Given the description of an element on the screen output the (x, y) to click on. 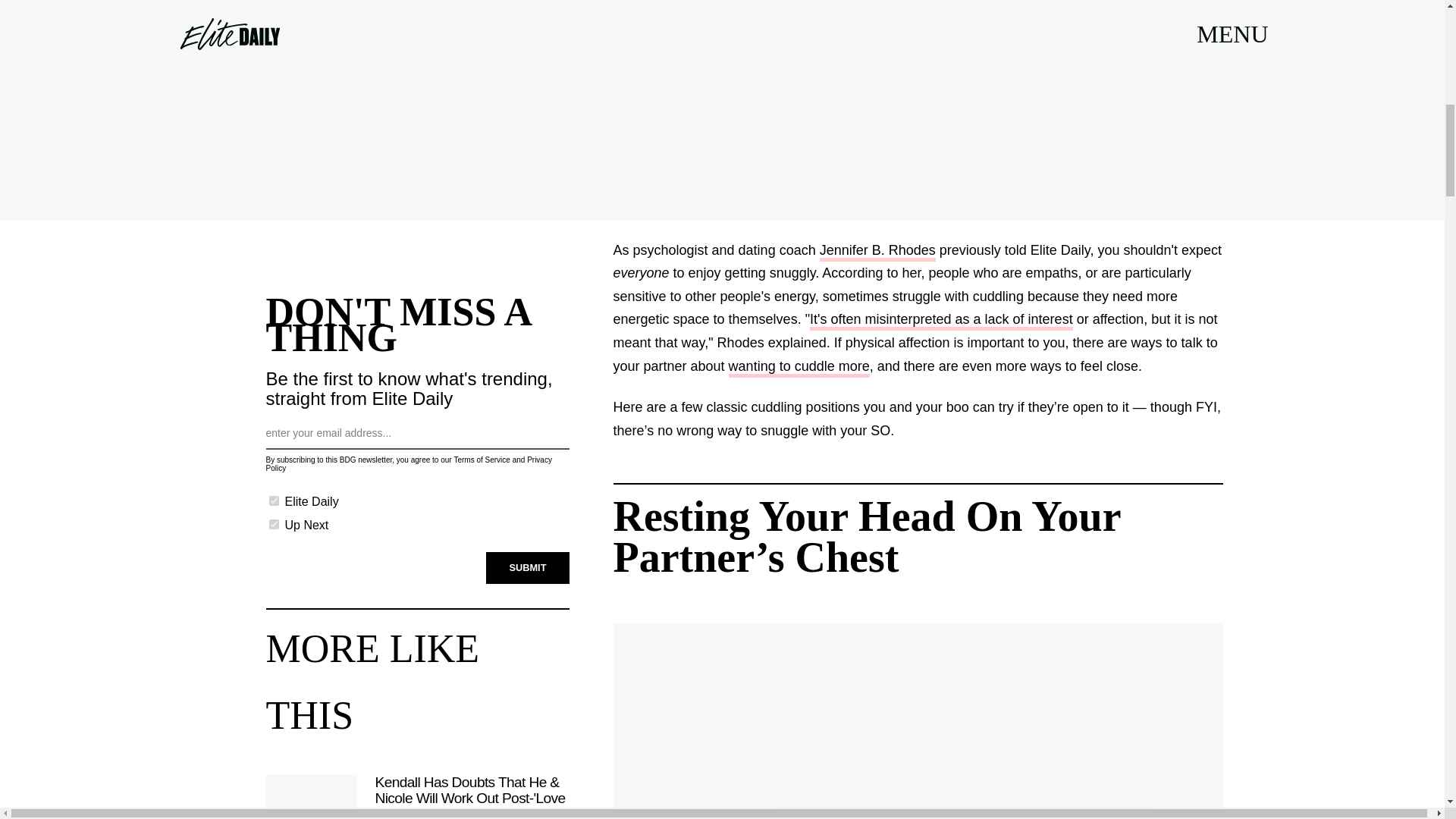
Privacy Policy (407, 463)
Terms of Service (480, 459)
It's often misinterpreted as a lack of interest (941, 321)
SUBMIT (527, 567)
wanting to cuddle more (799, 367)
Jennifer B. Rhodes (877, 251)
